Given the description of an element on the screen output the (x, y) to click on. 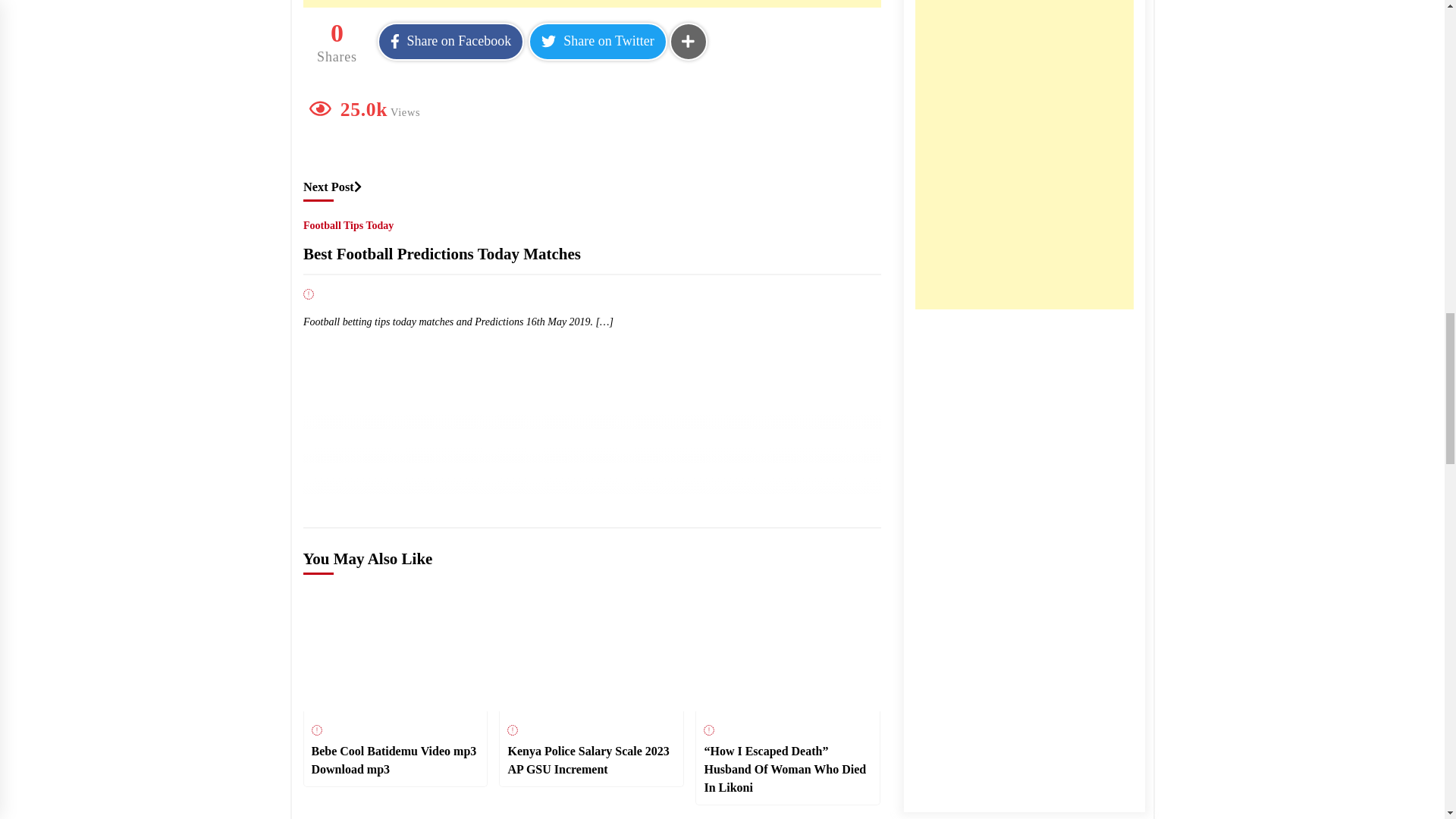
Advertisement (591, 3)
